Given the description of an element on the screen output the (x, y) to click on. 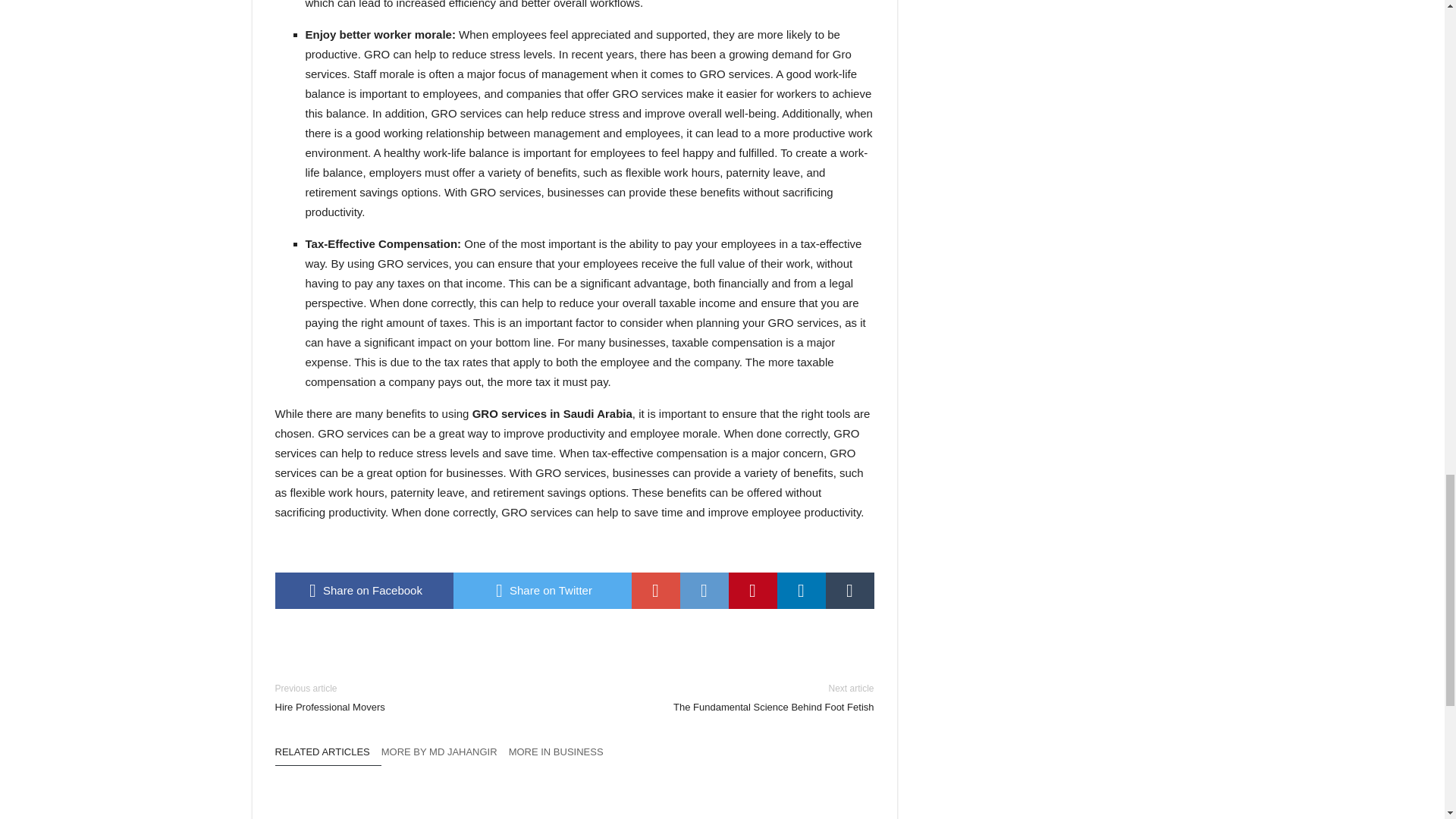
twitter (541, 590)
google (654, 590)
reddit (703, 590)
facebook (363, 590)
